Given the description of an element on the screen output the (x, y) to click on. 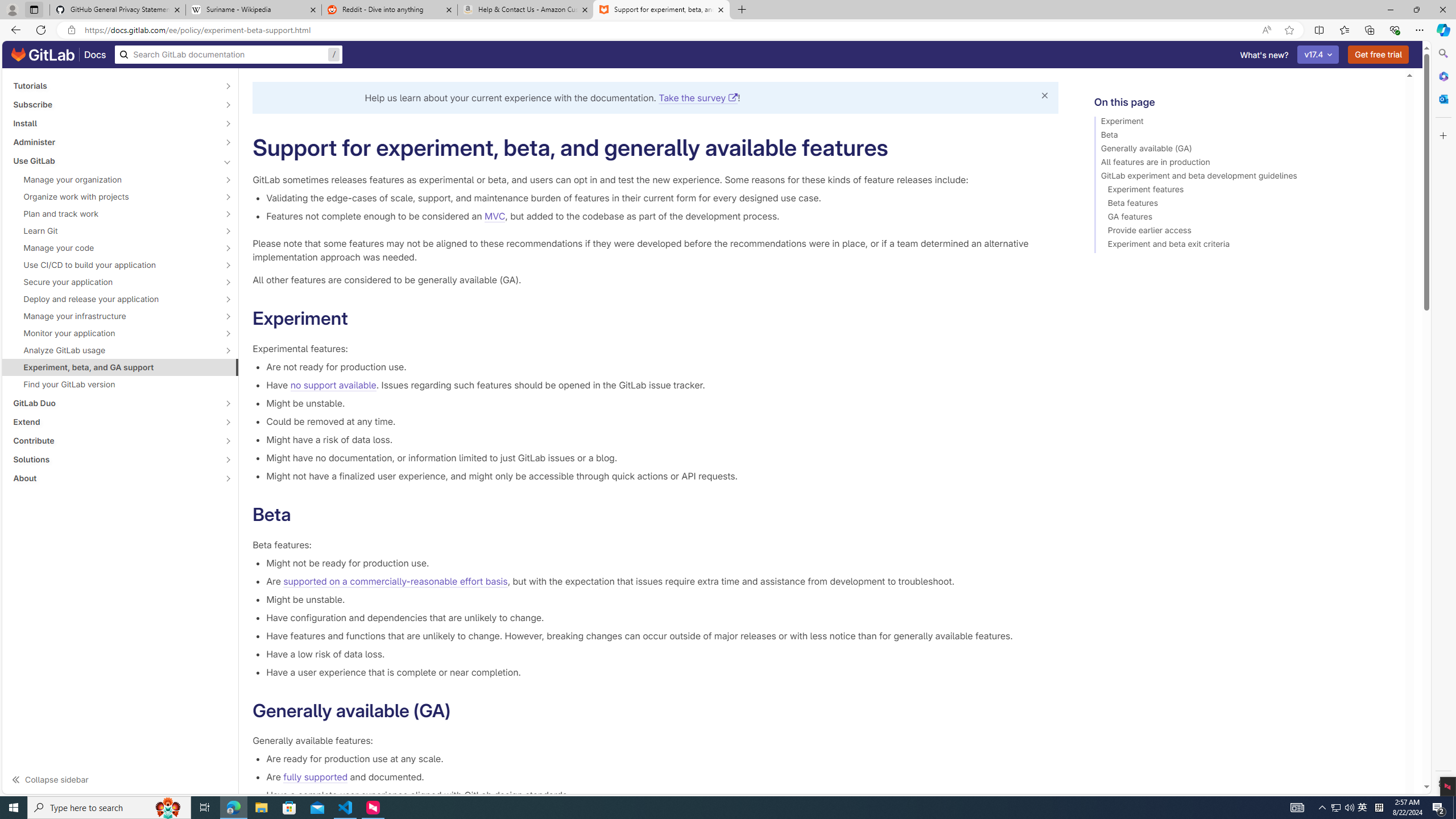
Analyze GitLab usage (113, 349)
GA features (1244, 218)
GitLab experiment and beta development guidelines (1244, 177)
Could be removed at any time. (662, 421)
Tutorials (113, 85)
Permalink (461, 710)
Collapse sidebar (120, 779)
Provide earlier access (1244, 232)
